Given the description of an element on the screen output the (x, y) to click on. 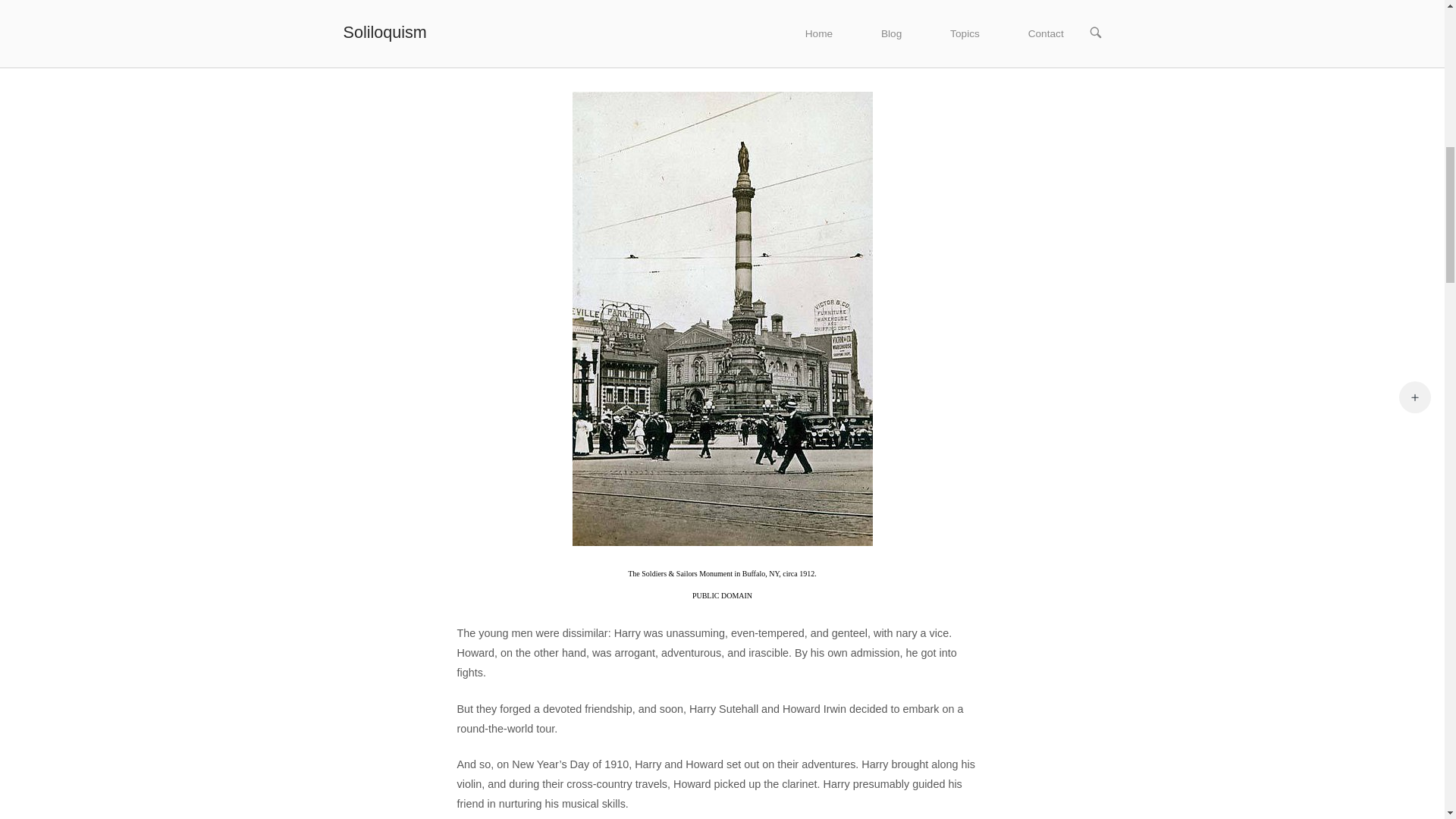
PUBLIC DOMAIN (722, 595)
